Given the description of an element on the screen output the (x, y) to click on. 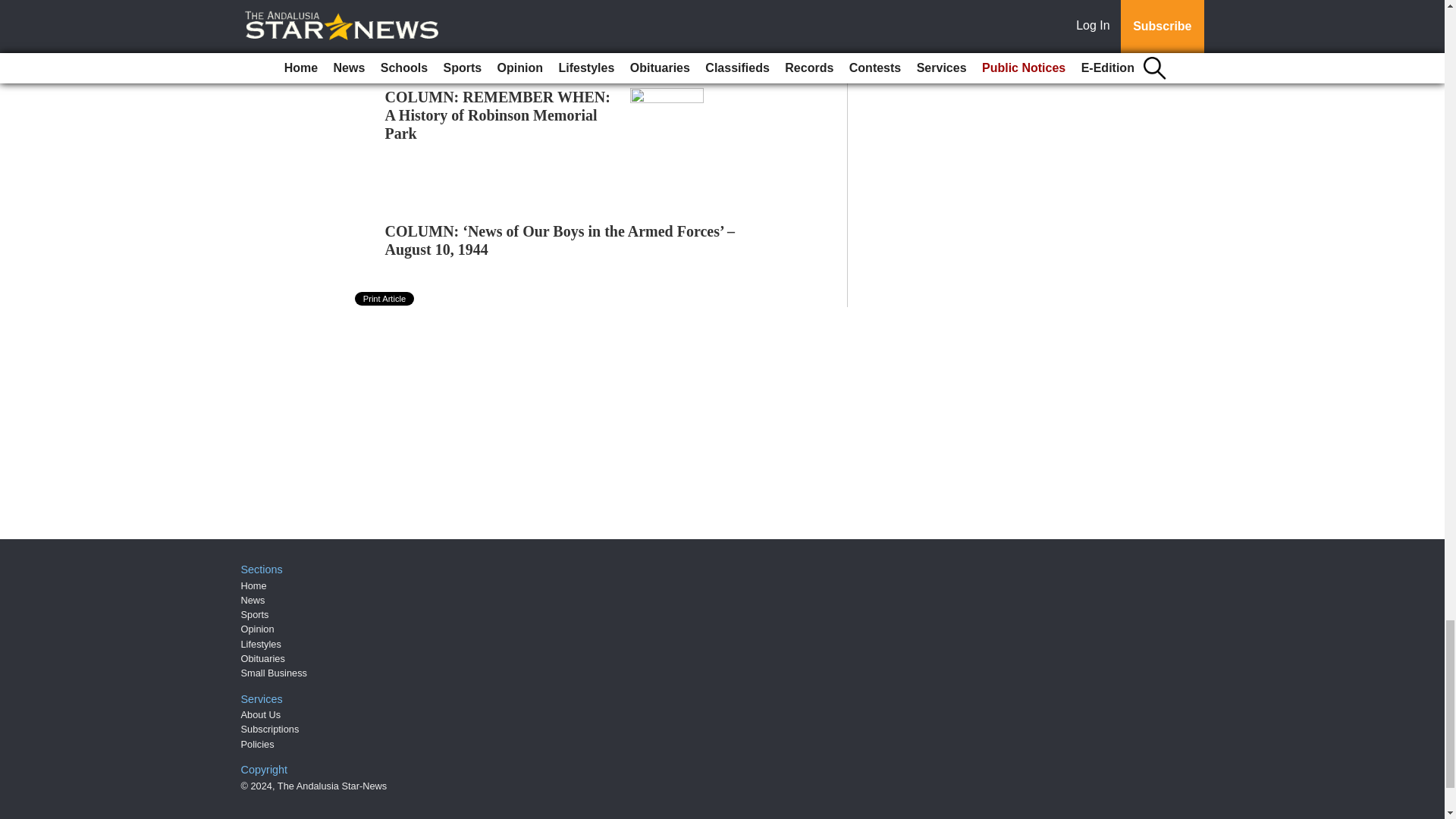
Home (253, 585)
COLUMN: REMEMBER WHEN: A History of Robinson Memorial Park (497, 114)
Print Article (384, 298)
COLUMN: REMEMBER WHEN: A History of Robinson Memorial Park (497, 114)
